Given the description of an element on the screen output the (x, y) to click on. 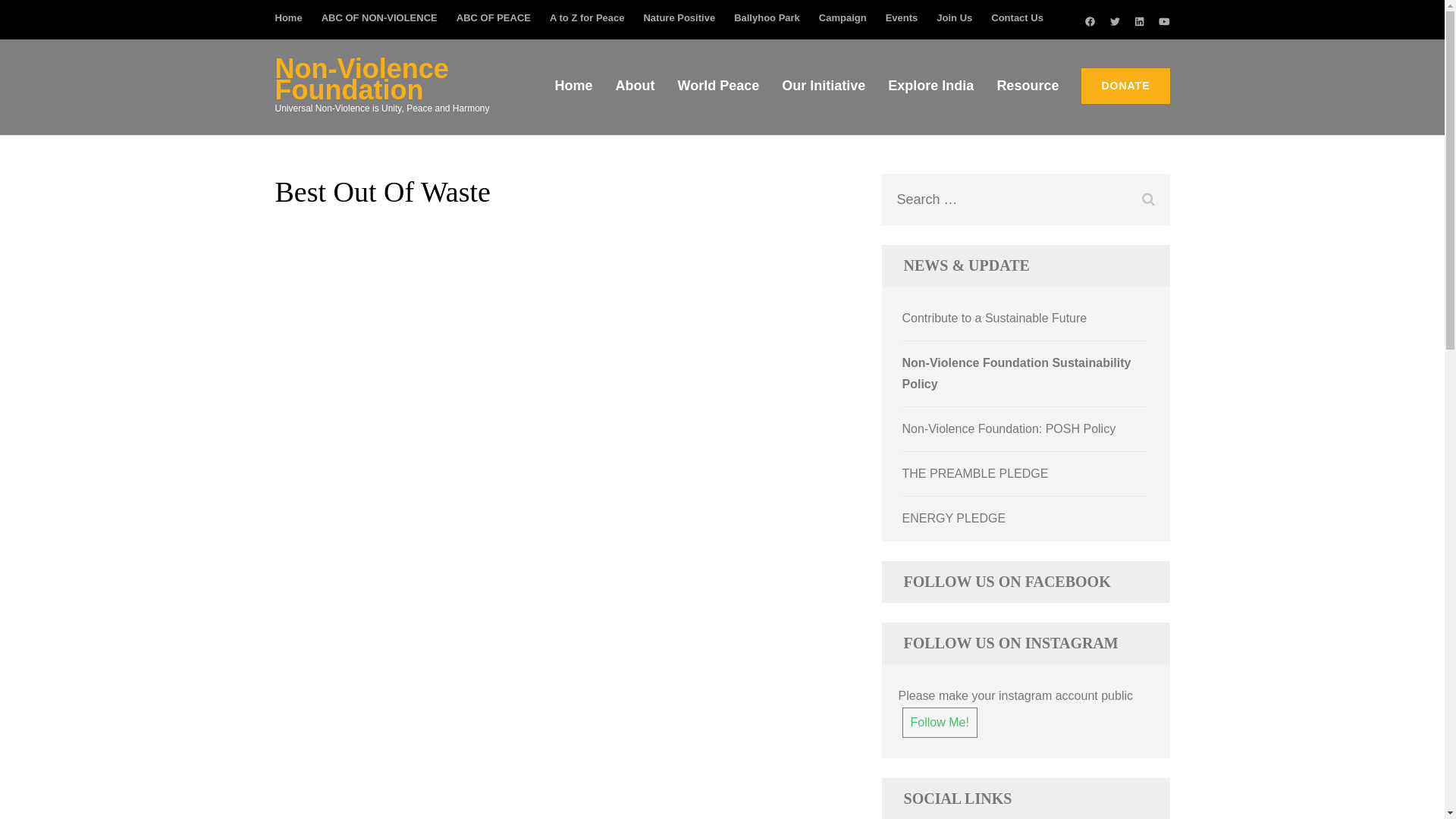
Search (1147, 199)
Search (1147, 199)
youtube (1164, 21)
